Given the description of an element on the screen output the (x, y) to click on. 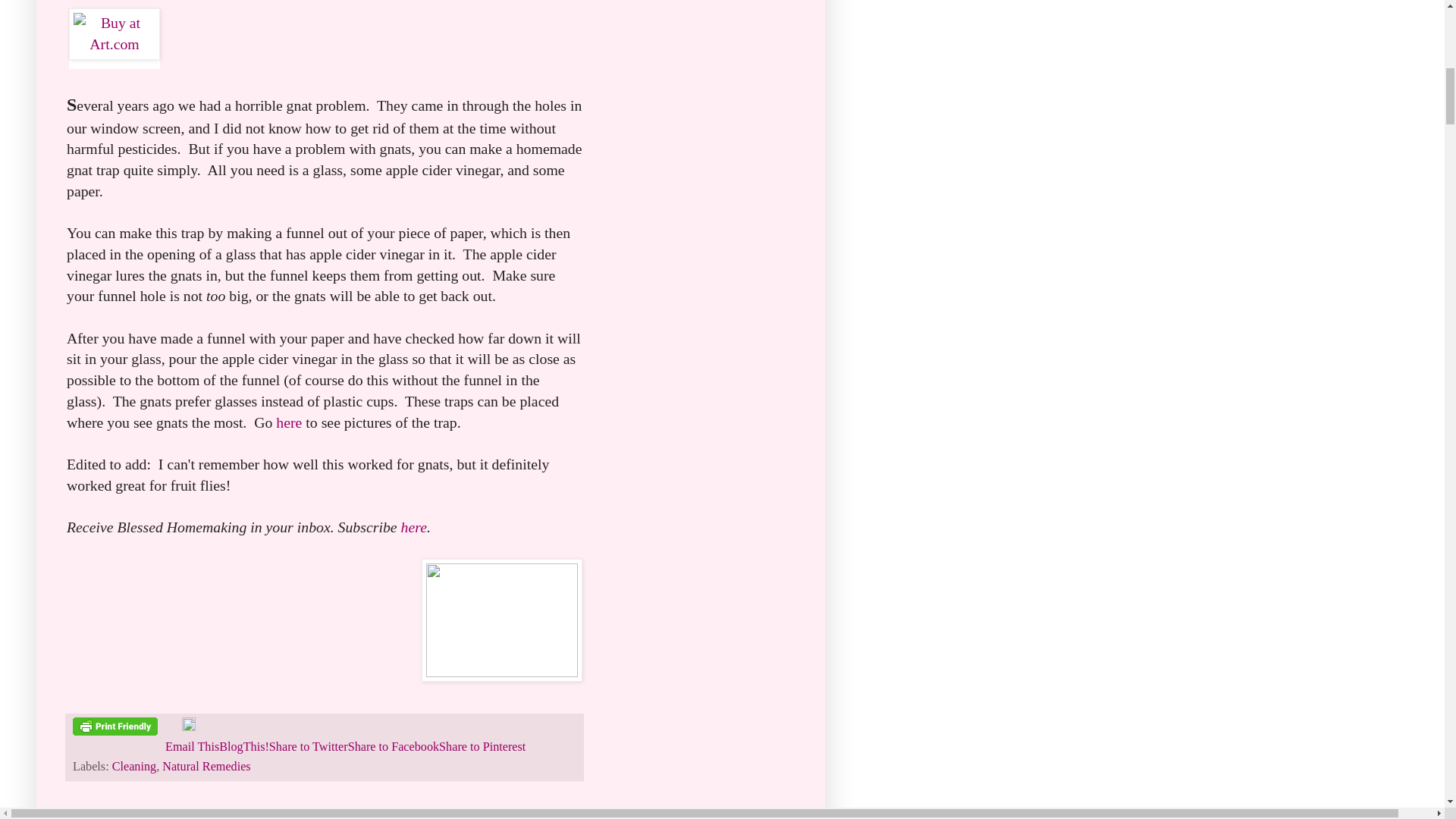
Email This (192, 746)
BlogThis! (244, 746)
Edit Post (188, 726)
Printer Friendly and PDF (114, 729)
Natural Remedies (205, 766)
Share to Facebook (393, 746)
Share to Twitter (308, 746)
Share to Pinterest (482, 746)
Share to Facebook (393, 746)
Cleaning (133, 766)
Share to Pinterest (482, 746)
Share to Twitter (308, 746)
Email This (192, 746)
BlogThis! (244, 746)
here (413, 526)
